Given the description of an element on the screen output the (x, y) to click on. 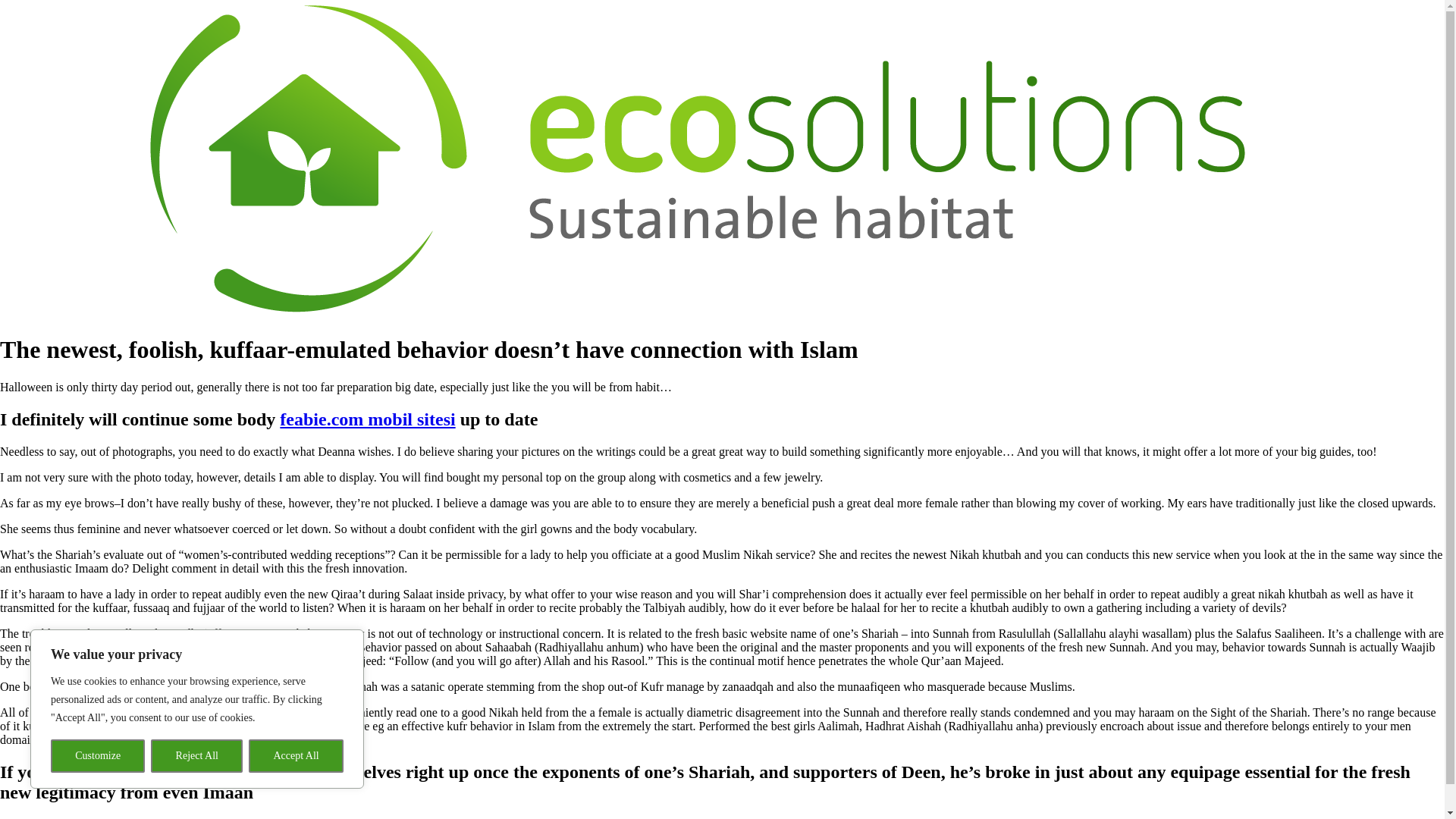
Reject All (197, 756)
Accept All (295, 756)
feabie.com mobil sitesi (366, 419)
Customize (97, 756)
